Given the description of an element on the screen output the (x, y) to click on. 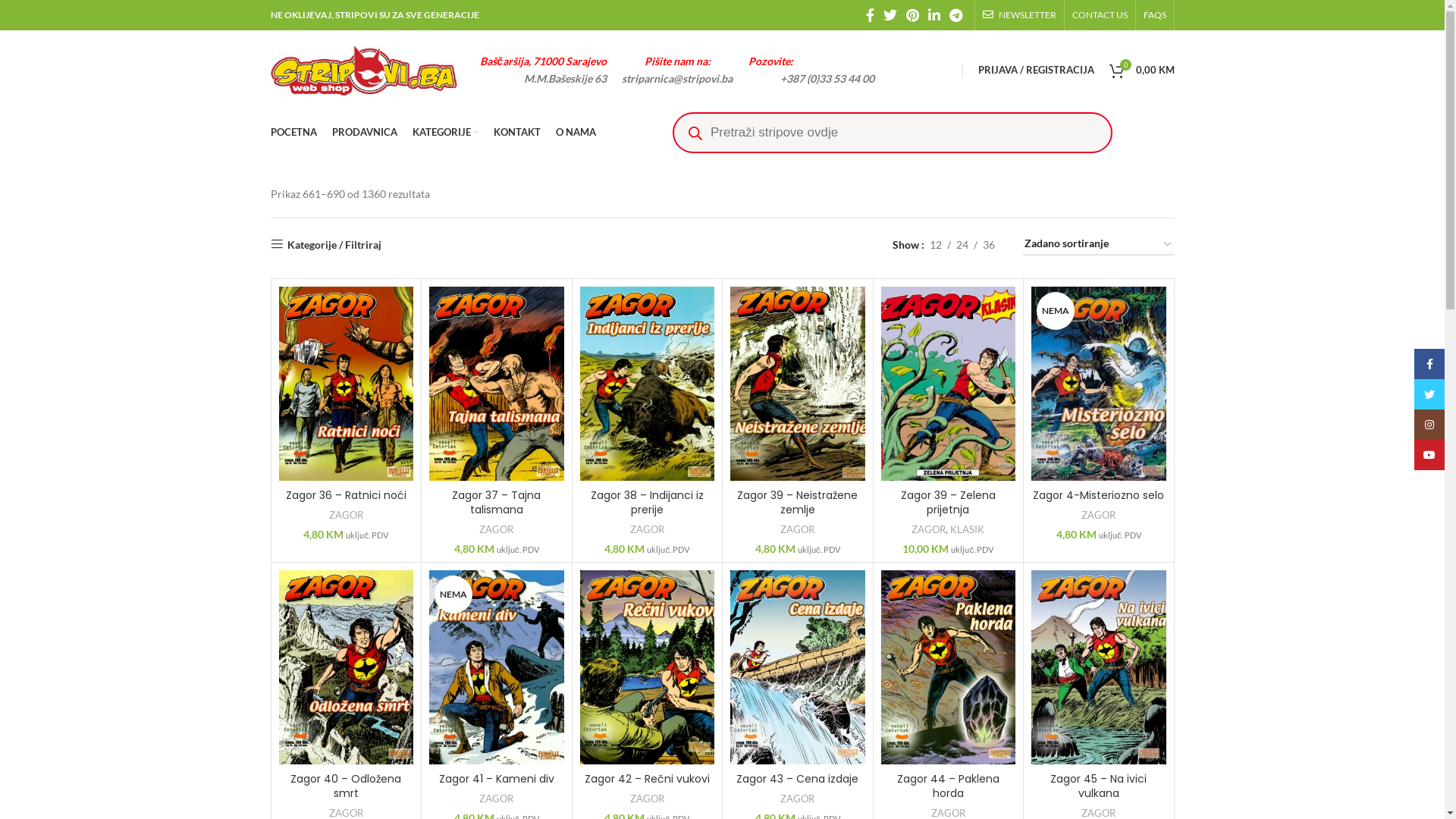
NEMA Element type: text (1098, 383)
FAQS Element type: text (1154, 15)
ZAGOR Element type: text (1098, 515)
ZAGOR Element type: text (346, 515)
Zagor 4-Misteriozno selo Element type: text (1098, 494)
ZAGOR Element type: text (647, 798)
NEMA Element type: text (496, 667)
36 Element type: text (987, 244)
ZAGOR Element type: text (797, 529)
0
0,00 KM Element type: text (1141, 69)
ZAGOR Element type: text (647, 529)
ZAGOR Element type: text (496, 798)
ZAGOR Element type: text (797, 798)
POCETNA Element type: text (292, 132)
KATEGORIJE Element type: text (445, 132)
KONTAKT Element type: text (515, 132)
PRODAVNICA Element type: text (364, 132)
ZAGOR Element type: text (496, 529)
CONTACT US Element type: text (1099, 15)
ZAGOR Element type: text (928, 529)
Kategorije / Filtriraj Element type: text (324, 244)
12 Element type: text (934, 244)
PRIJAVA / REGISTRACIJA Element type: text (1035, 69)
O NAMA Element type: text (575, 132)
KLASIK Element type: text (967, 529)
NEWSLETTER Element type: text (1019, 15)
24 Element type: text (961, 244)
